Given the description of an element on the screen output the (x, y) to click on. 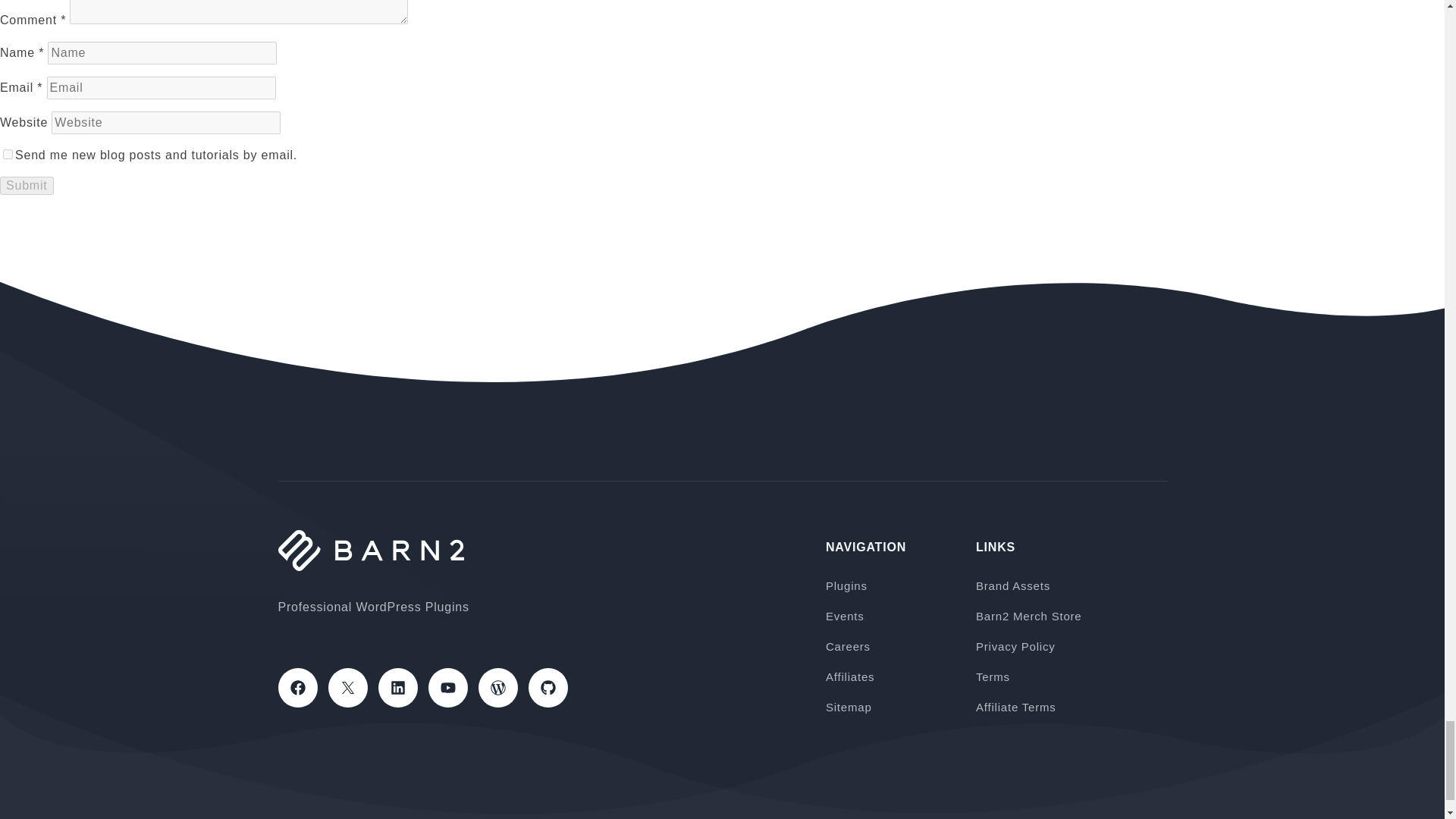
Submit (26, 185)
on (7, 153)
